Given the description of an element on the screen output the (x, y) to click on. 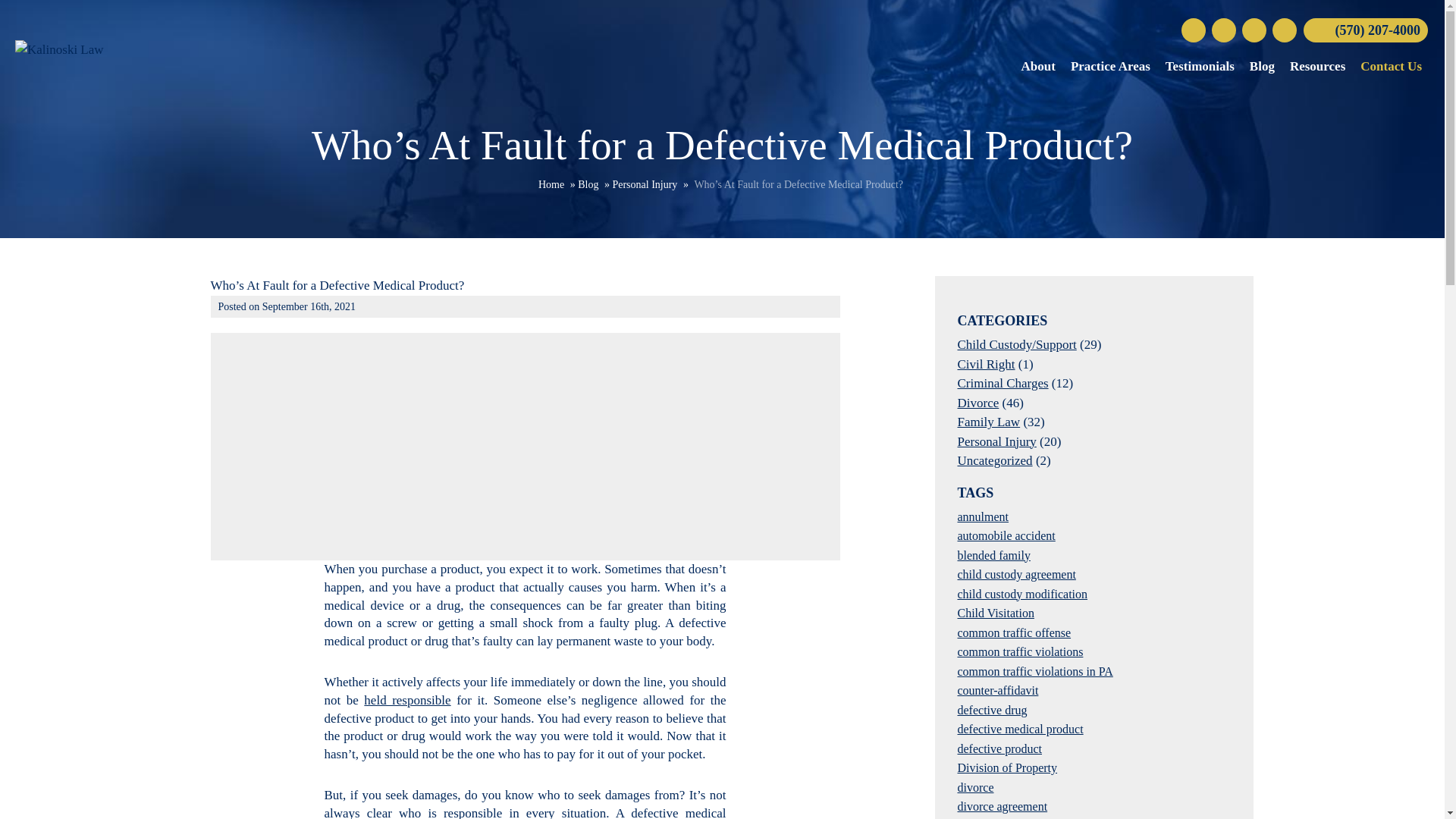
Twitter (1223, 30)
Resources (1317, 66)
LinkedIn (1284, 30)
Facebook (1192, 30)
Testimonials (1199, 66)
held responsible (406, 699)
Contact Us (1390, 66)
Blog (588, 184)
Blog (1261, 66)
Practice Areas (1109, 66)
